Given the description of an element on the screen output the (x, y) to click on. 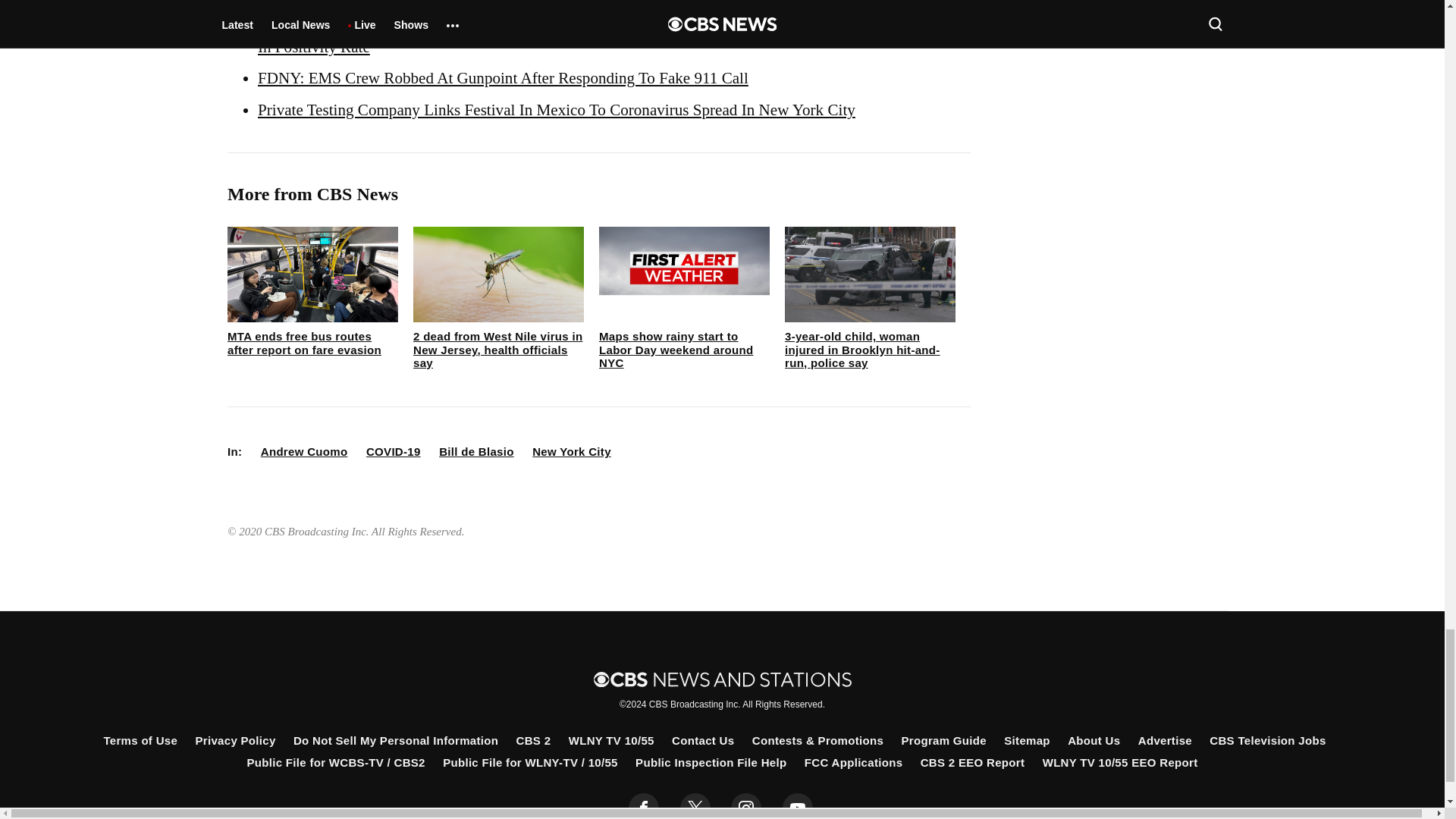
youtube (797, 806)
twitter (694, 806)
facebook (643, 806)
instagram (745, 806)
